Given the description of an element on the screen output the (x, y) to click on. 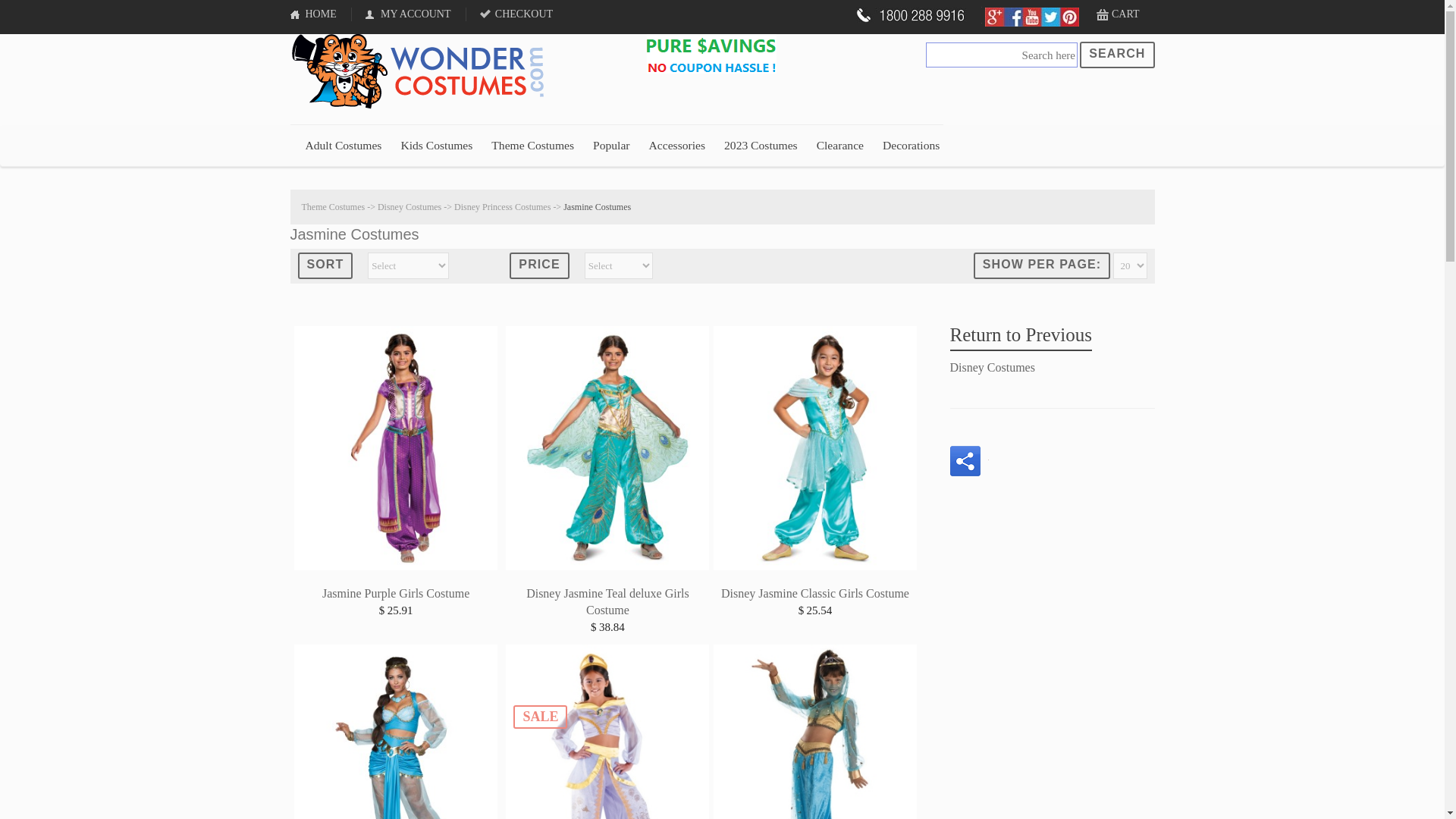
HOME (319, 14)
SEARCH (1117, 54)
CHECKOUT (517, 14)
Checkout (517, 14)
My Account (409, 14)
Search (1117, 54)
Home (319, 14)
WonderCostumes.com (421, 71)
Adult Costumes (342, 145)
CART (1117, 14)
Kids Costumes (435, 145)
MY ACCOUNT (409, 14)
Theme Costumes (532, 145)
